Given the description of an element on the screen output the (x, y) to click on. 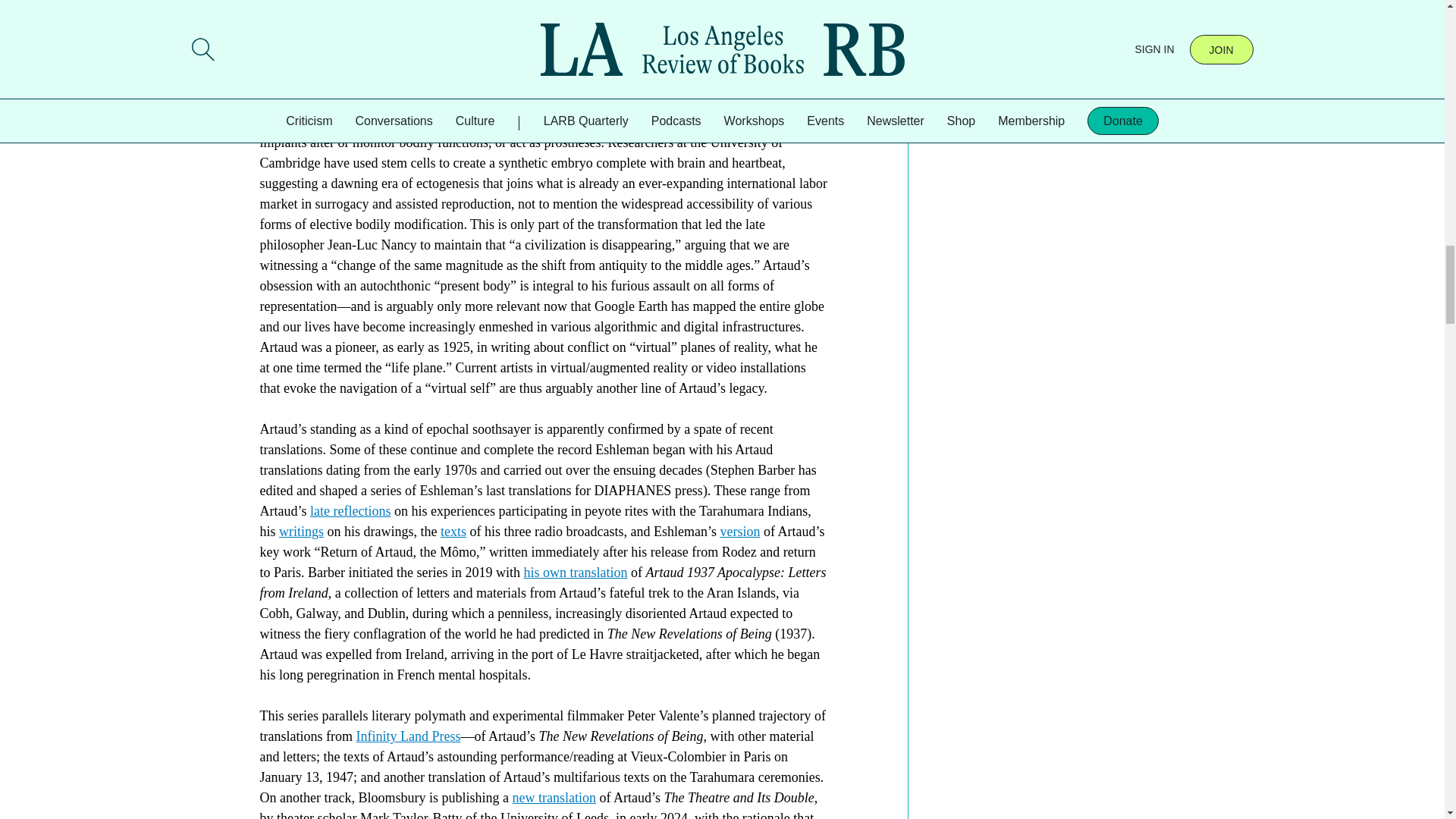
version (739, 531)
Infinity Land Press (407, 735)
texts (453, 531)
writings (301, 531)
late reflections (350, 510)
new translation (553, 797)
his own translation (574, 572)
